Given the description of an element on the screen output the (x, y) to click on. 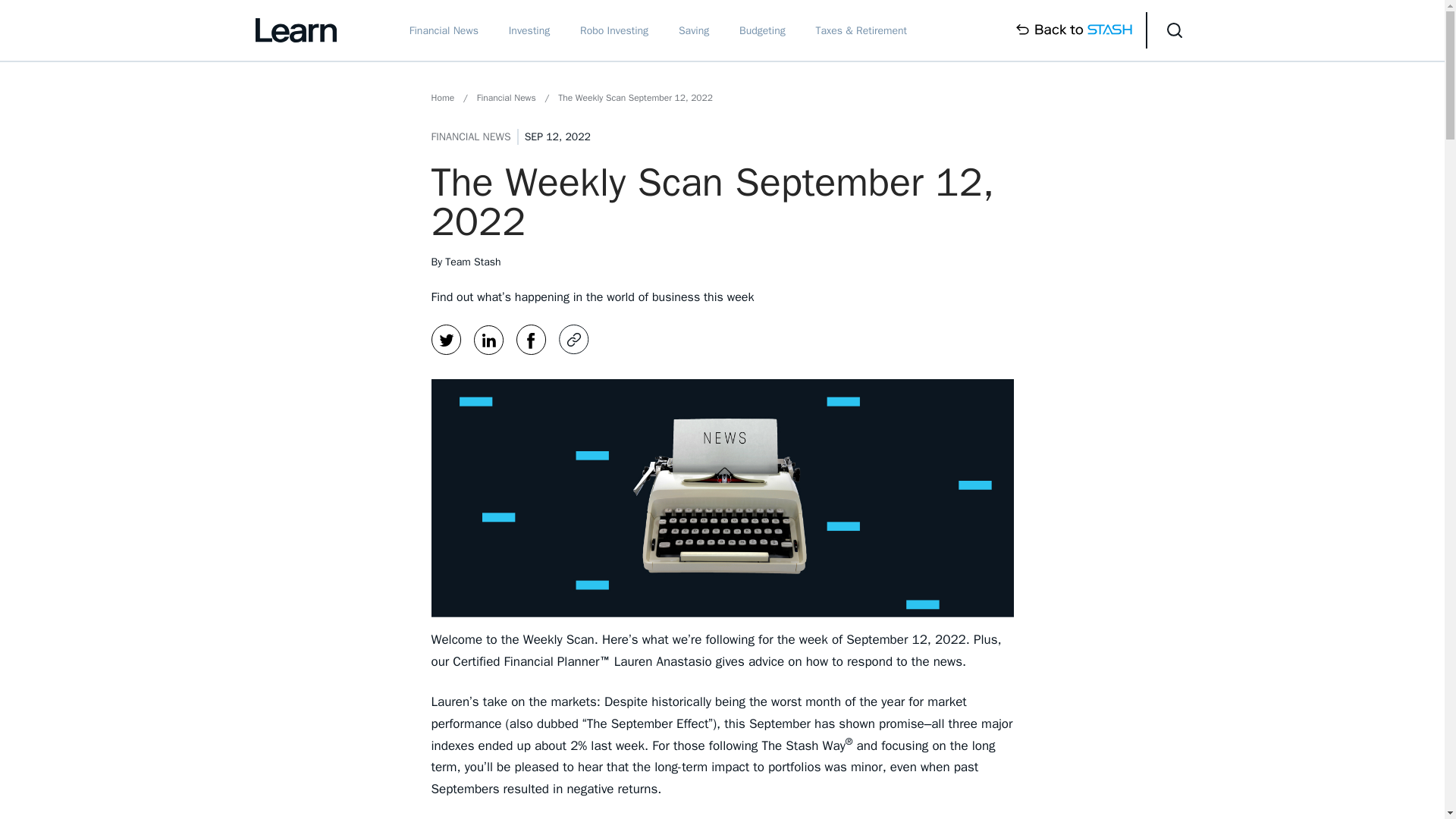
Financial News (506, 97)
Saving (693, 30)
Investing (529, 30)
Financial News (444, 30)
Search (1173, 30)
Budgeting (762, 30)
Stash Learn (295, 30)
FINANCIAL NEWS (470, 136)
Robo Investing (613, 30)
Home (442, 97)
